Given the description of an element on the screen output the (x, y) to click on. 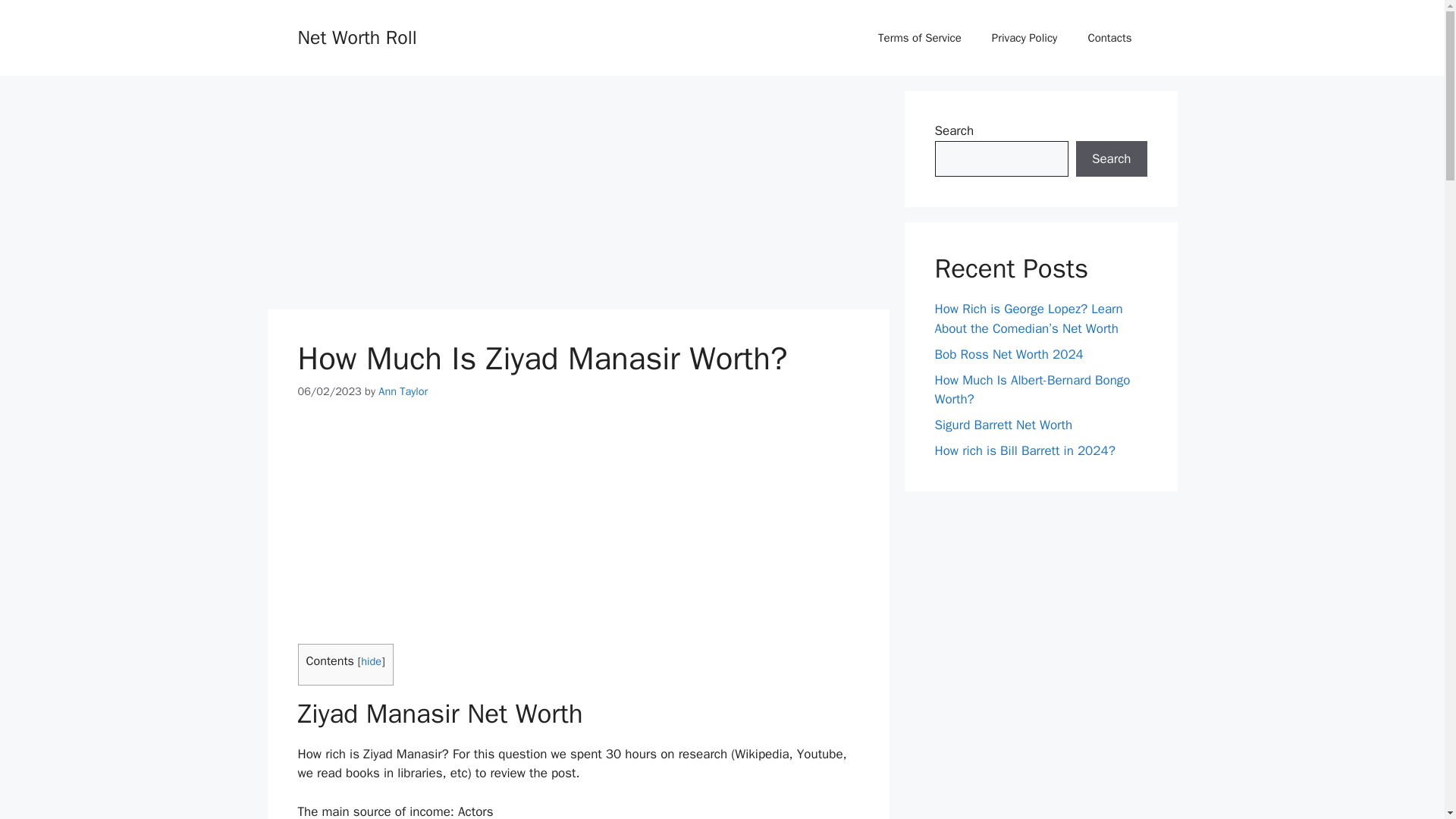
Advertisement (577, 196)
Advertisement (578, 531)
Contacts (1109, 37)
How rich is Bill Barrett in 2024? (1024, 450)
Ann Taylor (403, 391)
Sigurd Barrett Net Worth (1002, 424)
hide (371, 661)
Bob Ross Net Worth 2024 (1008, 353)
Privacy Policy (1024, 37)
Terms of Service (919, 37)
Net Worth Roll (356, 37)
How Much Is Albert-Bernard Bongo Worth? (1031, 389)
Search (1111, 158)
View all posts by Ann Taylor (403, 391)
